Given the description of an element on the screen output the (x, y) to click on. 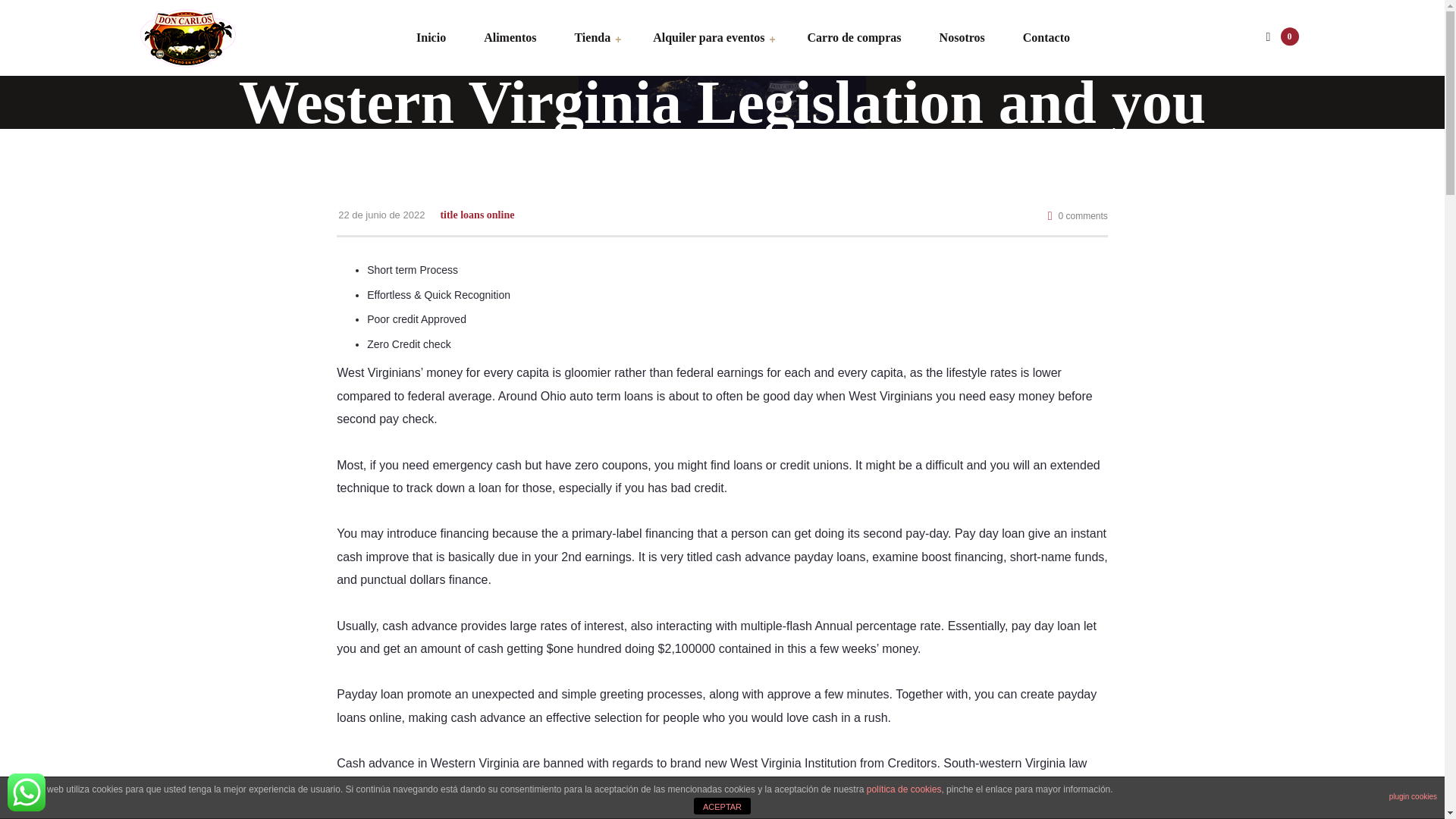
Tienda (591, 37)
Ver tu carro de compras (1279, 38)
Contacto (1037, 37)
Nosotros (962, 37)
0 (1279, 38)
Alquiler para eventos (708, 37)
0 comments (1078, 215)
Alimentos (509, 37)
Inicio (430, 37)
title loans online (476, 215)
